Given the description of an element on the screen output the (x, y) to click on. 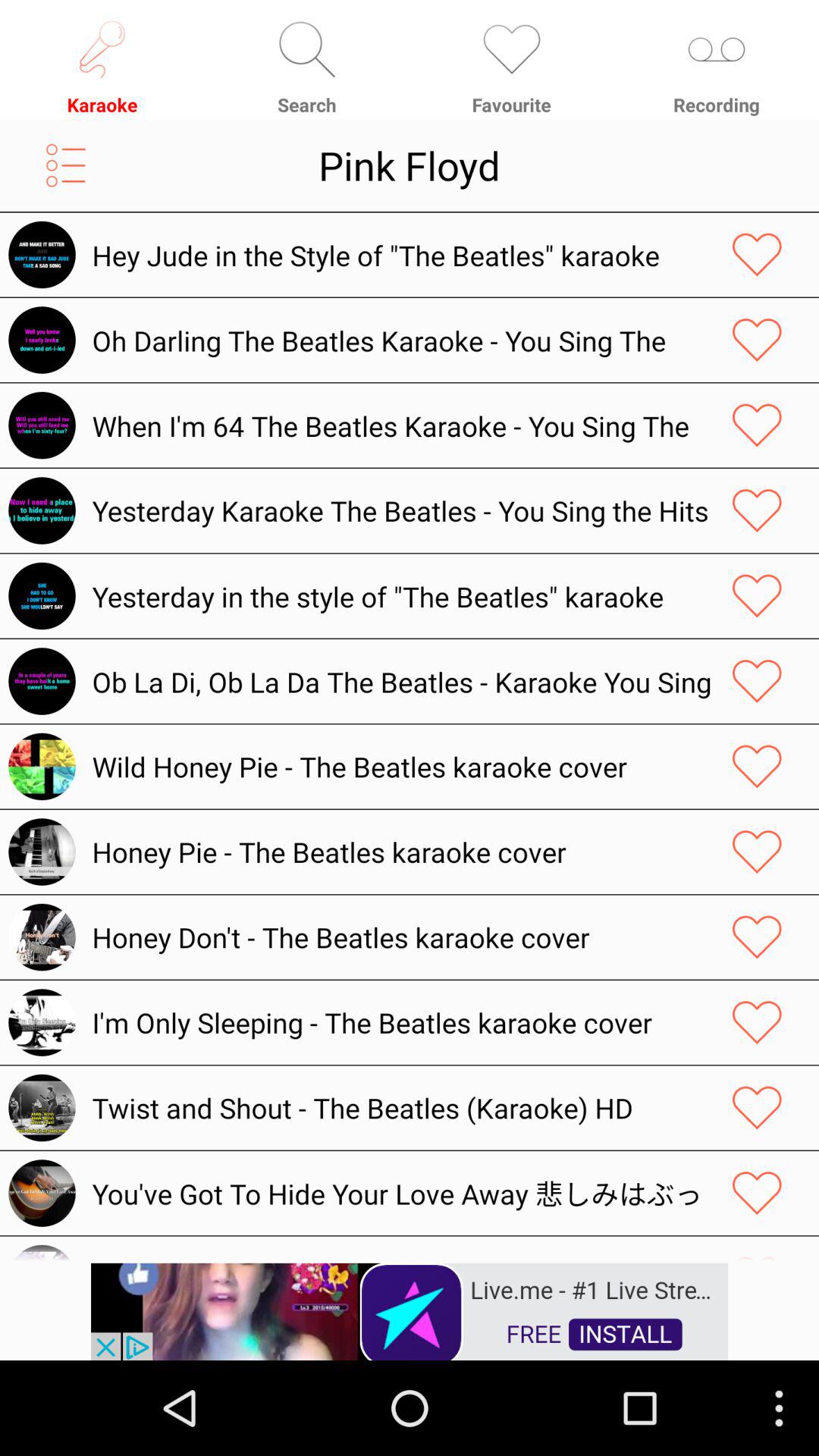
add to favorites (756, 254)
